Given the description of an element on the screen output the (x, y) to click on. 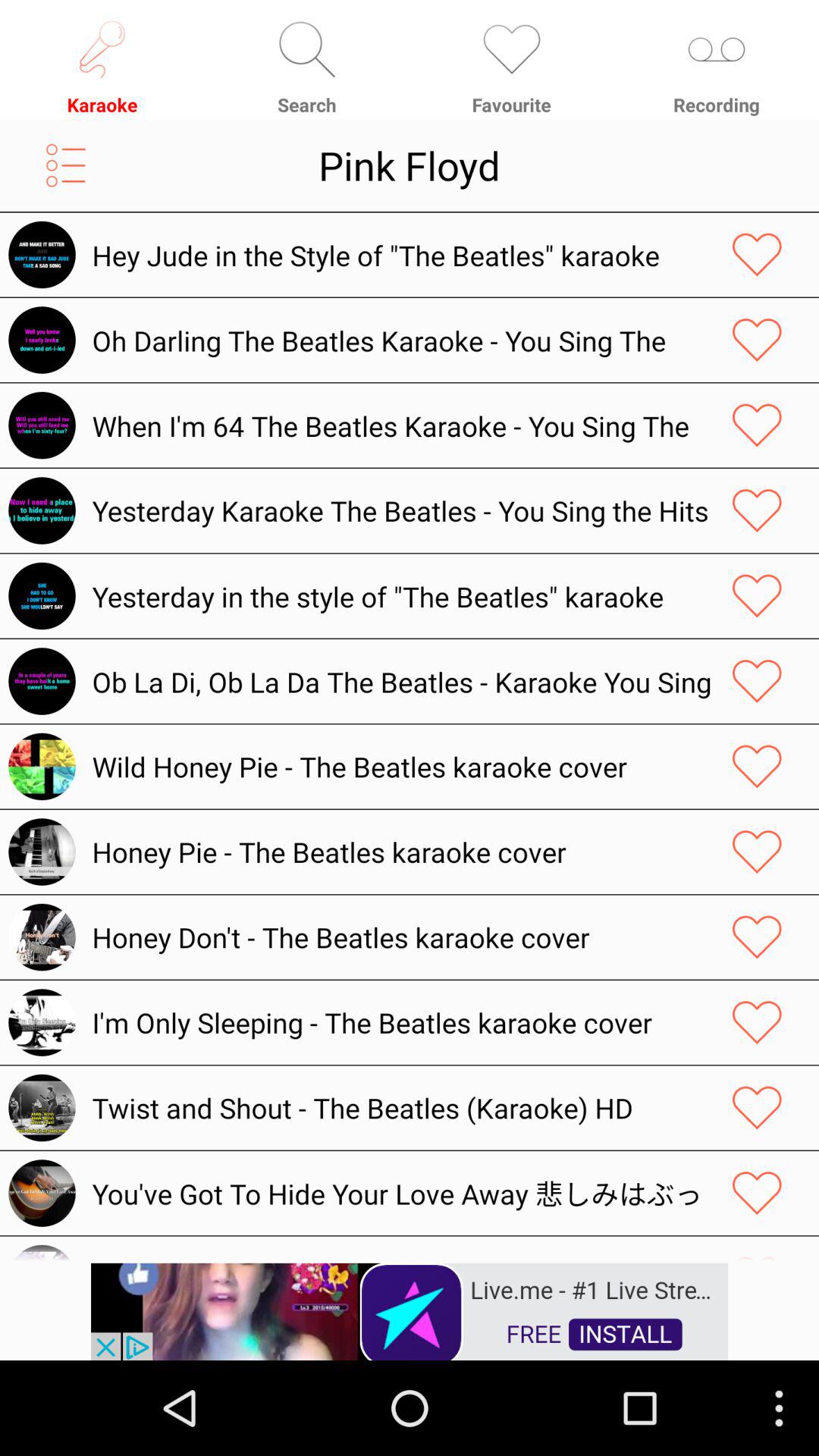
add to favorites (756, 254)
